Given the description of an element on the screen output the (x, y) to click on. 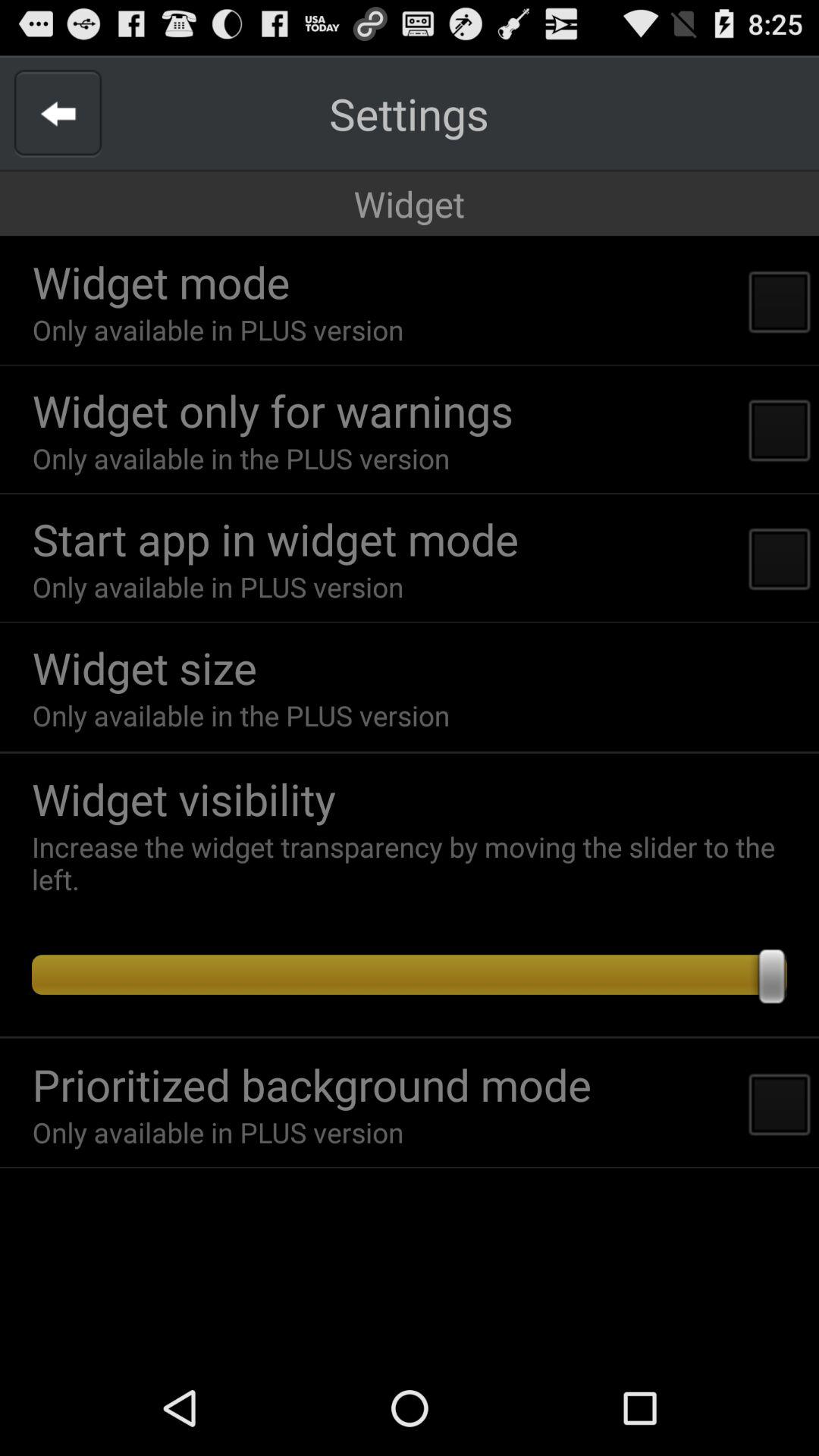
turn off item above widget (57, 113)
